Given the description of an element on the screen output the (x, y) to click on. 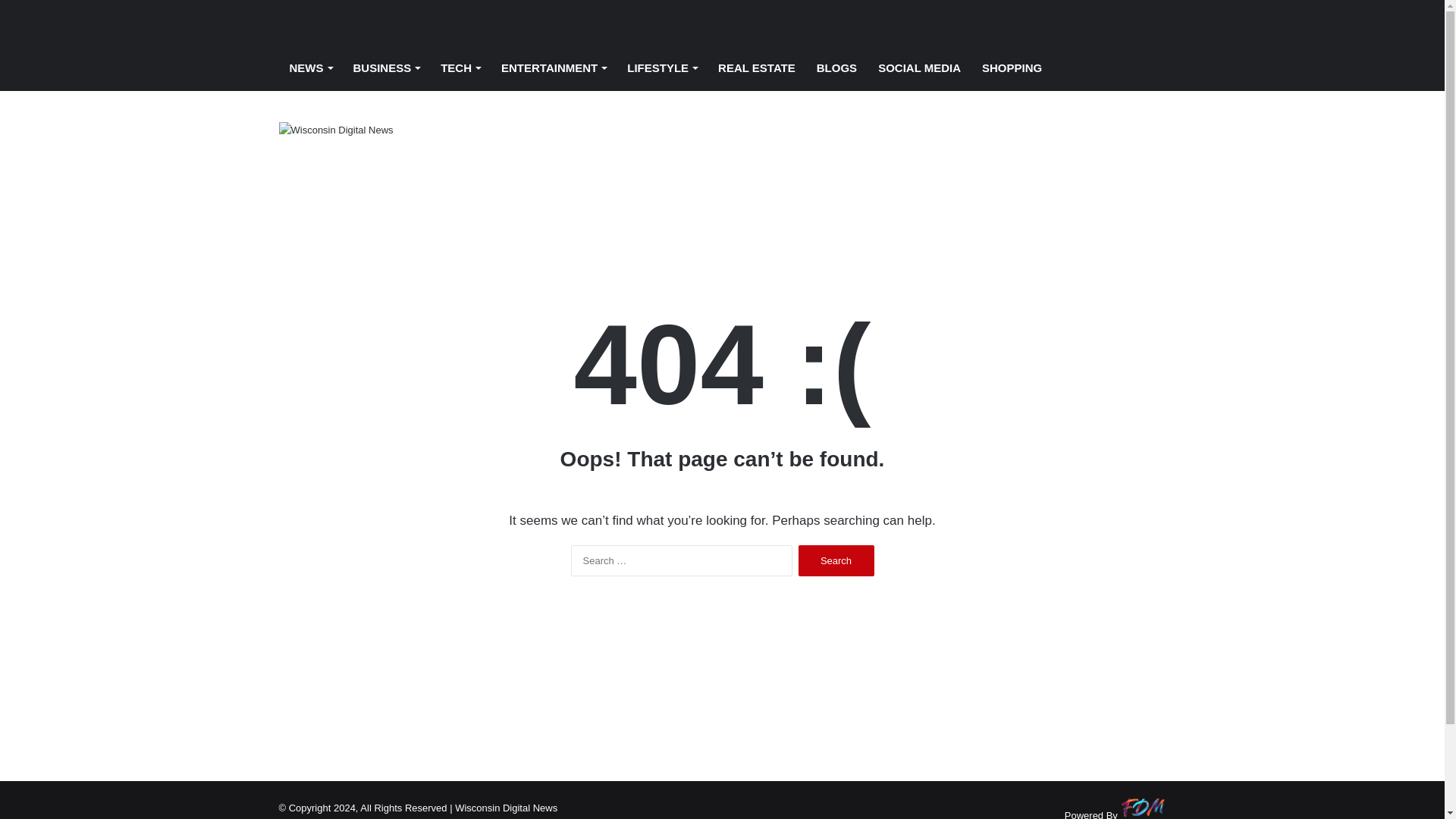
SHOPPING (1011, 67)
BLOGS (836, 67)
REAL ESTATE (756, 67)
Search (835, 560)
BUSINESS (386, 67)
LIFESTYLE (661, 67)
Wisconsin Digital News (336, 23)
SOCIAL MEDIA (919, 67)
Search for (1154, 67)
Wisconsin Digital News (336, 129)
TECH (459, 67)
ENTERTAINMENT (552, 67)
Search (835, 560)
NEWS (310, 67)
